Given the description of an element on the screen output the (x, y) to click on. 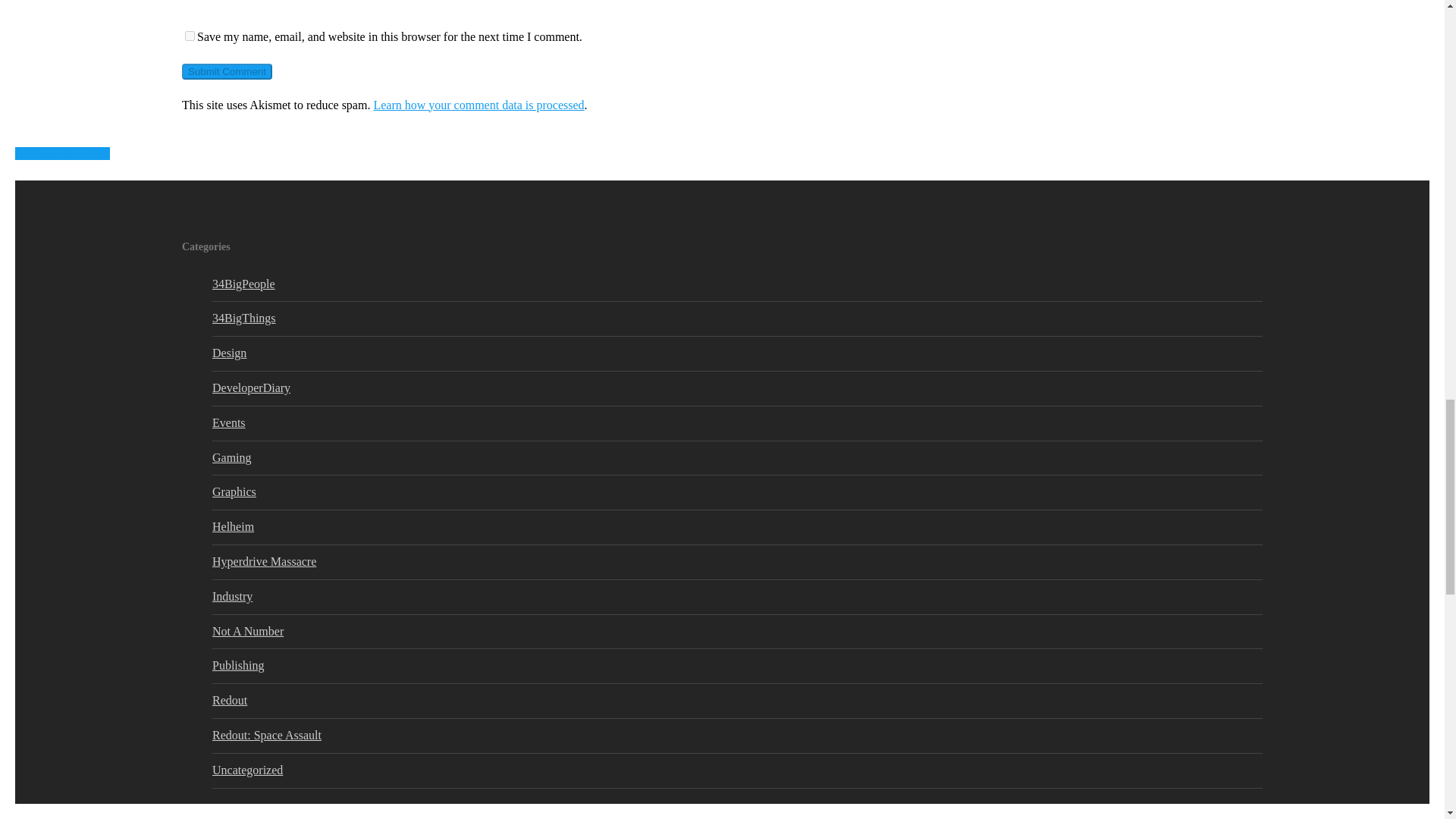
Tweet this (46, 153)
Share this (77, 153)
Submit Comment (227, 71)
yes (189, 35)
Share this (15, 153)
Pin this (101, 153)
